Given the description of an element on the screen output the (x, y) to click on. 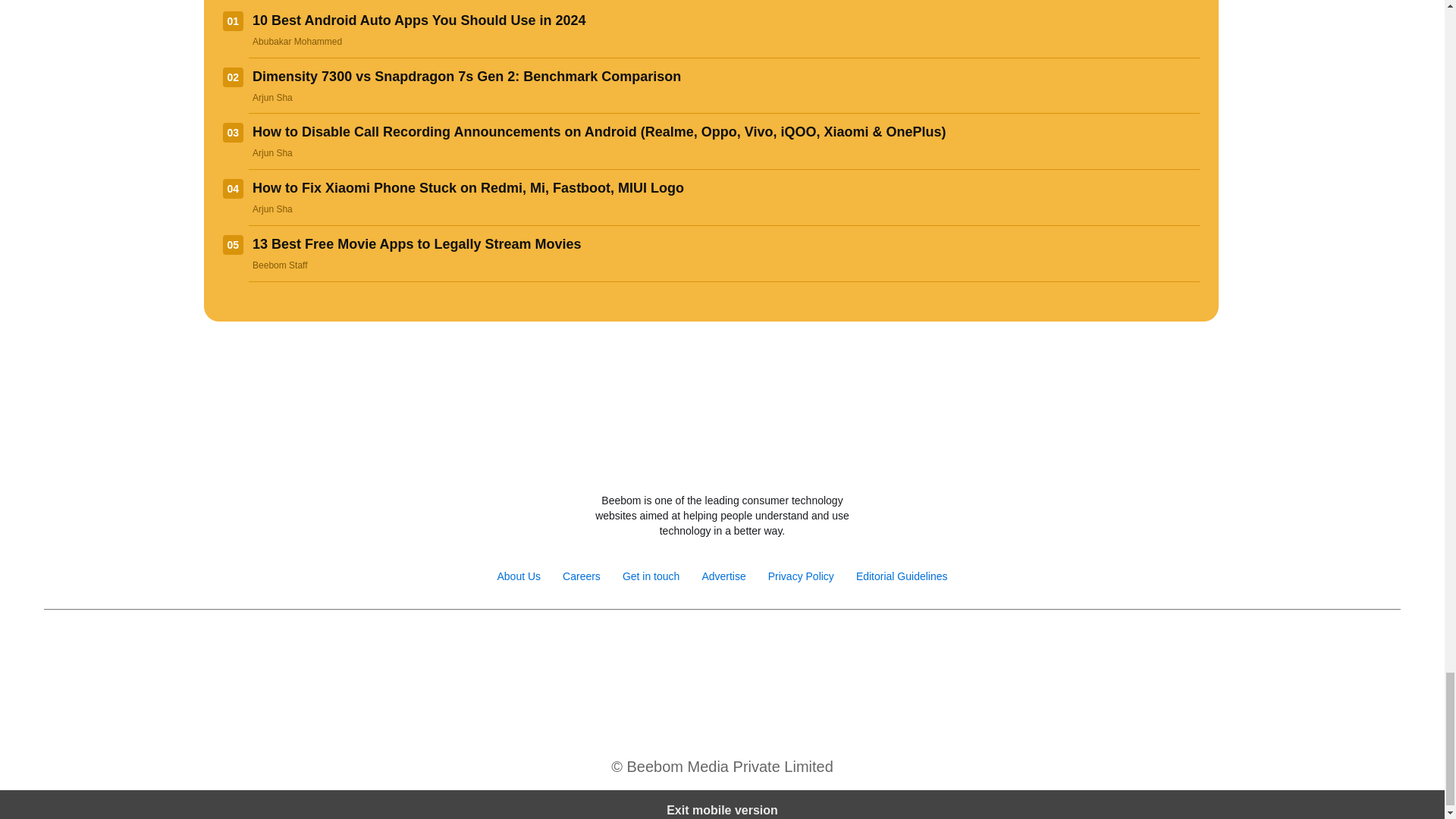
Facebook (640, 647)
Instagram (672, 647)
Beebom (721, 460)
Twitter (706, 647)
